Given the description of an element on the screen output the (x, y) to click on. 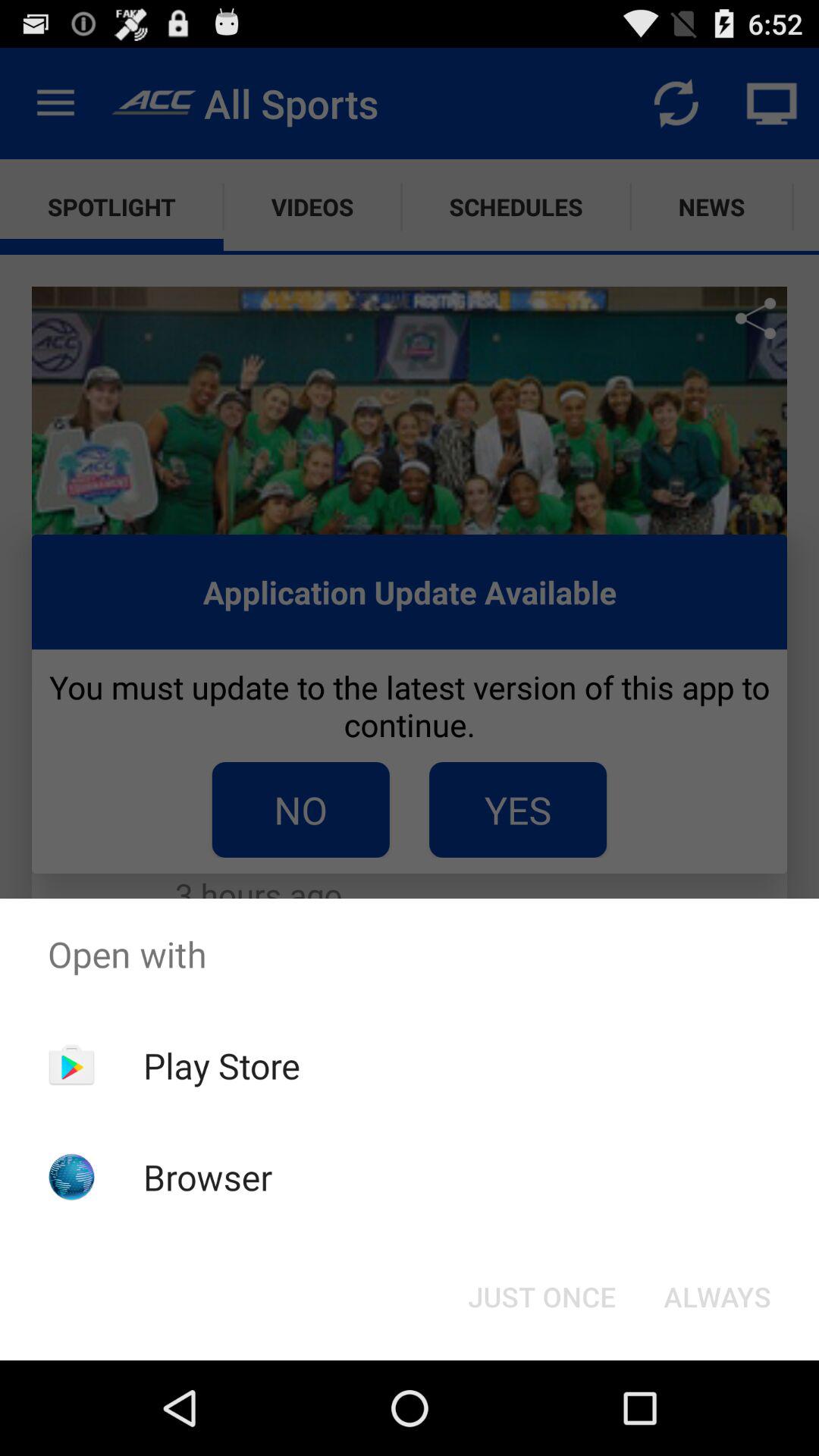
choose the always icon (717, 1296)
